Given the description of an element on the screen output the (x, y) to click on. 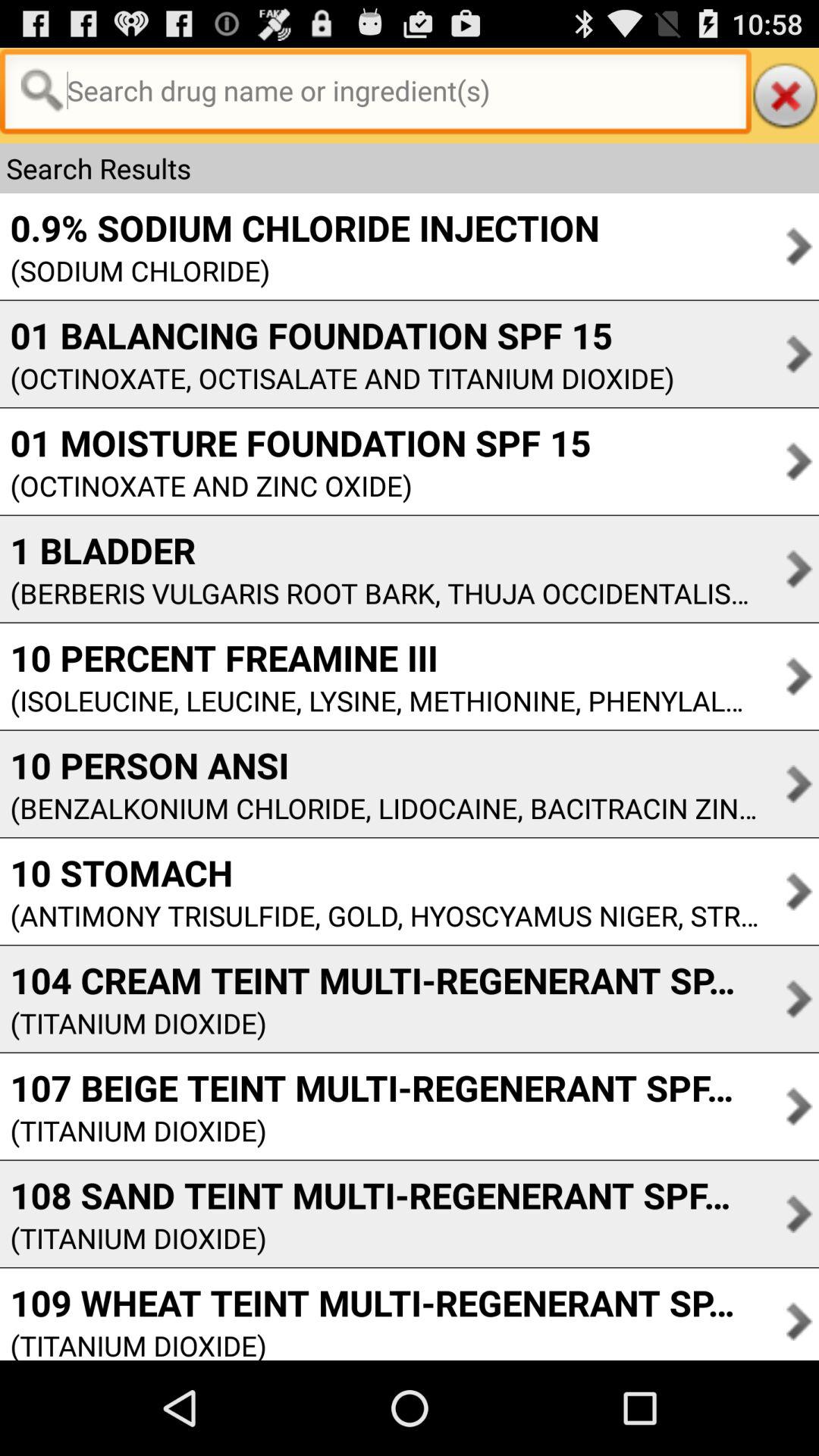
launch the icon below 1 bladder app (379, 592)
